Given the description of an element on the screen output the (x, y) to click on. 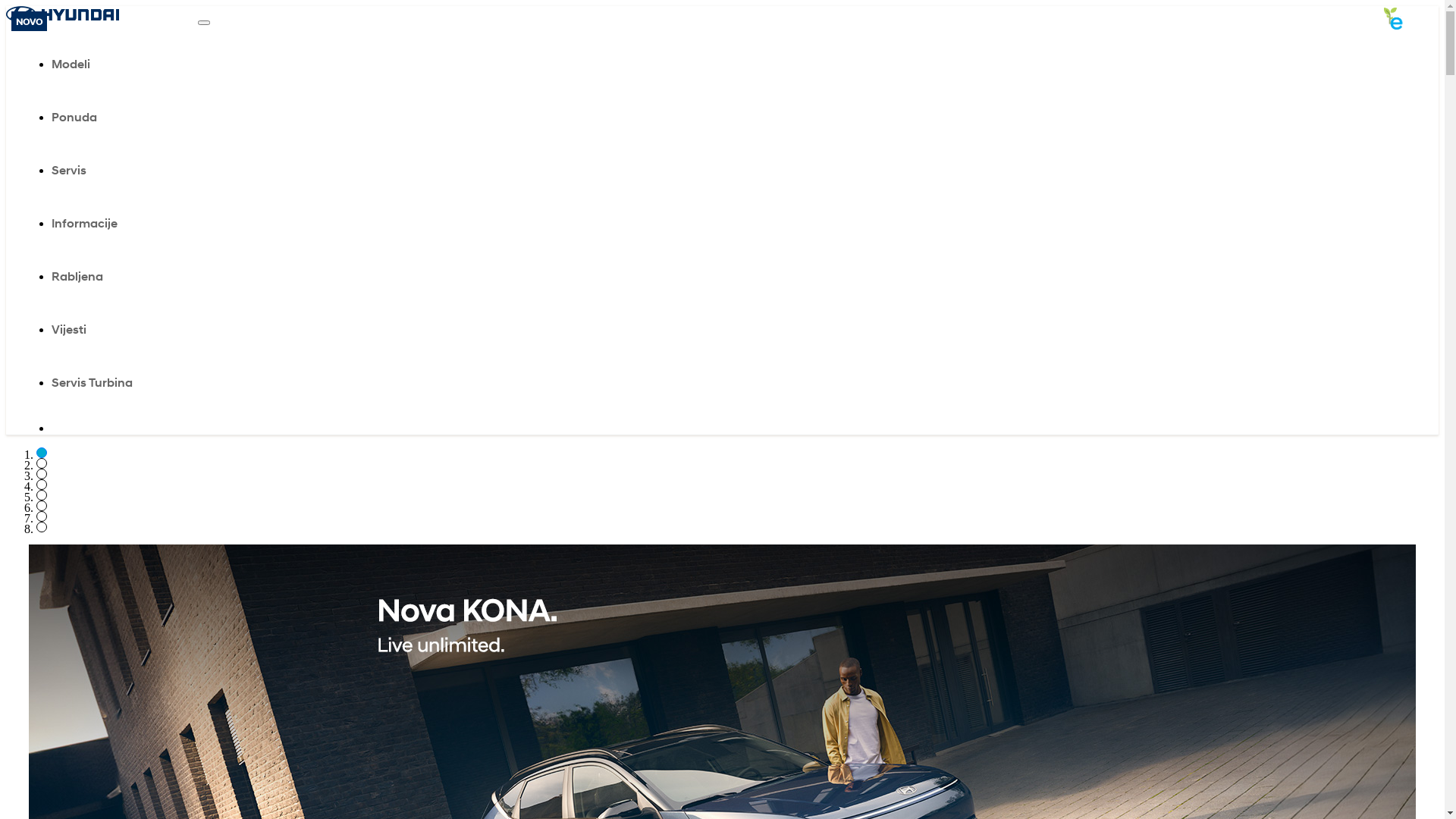
Modeli Element type: text (445, 64)
Rabljena Element type: text (445, 276)
Ponuda Element type: text (445, 117)
Informacije Element type: text (445, 223)
Pratite nas Element type: text (57, 427)
Servis Turbina Element type: text (445, 382)
Servis Element type: text (445, 170)
Vijesti Element type: text (445, 329)
